Given the description of an element on the screen output the (x, y) to click on. 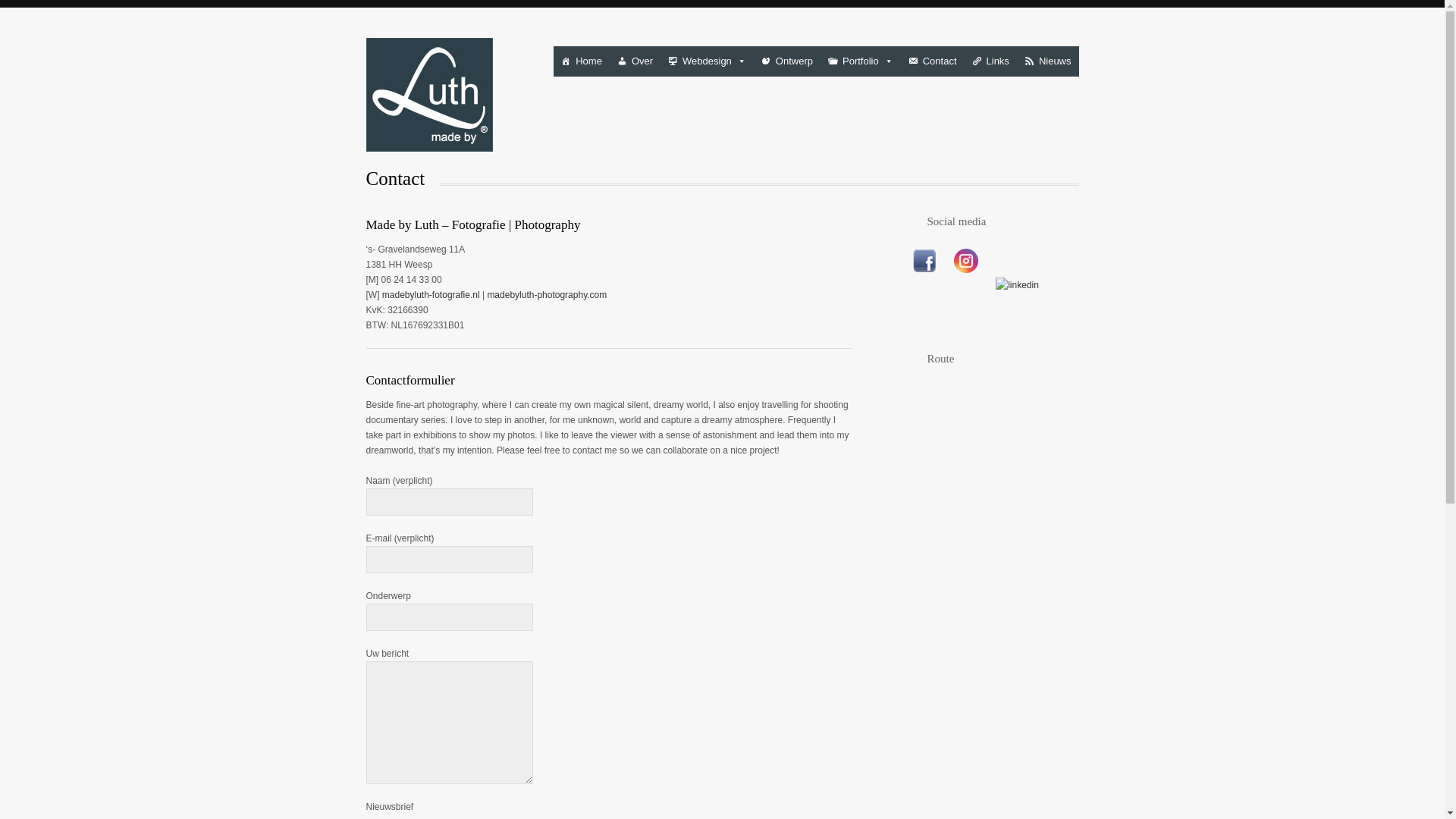
madebyluth-fotografie.nl (430, 294)
madebyluth-photography.com (546, 294)
Over (635, 60)
Links (989, 60)
Home (581, 60)
Portfolio (861, 60)
Webdesign (707, 60)
Ontwerp (787, 60)
Contact (932, 60)
Nieuws (1047, 60)
